Given the description of an element on the screen output the (x, y) to click on. 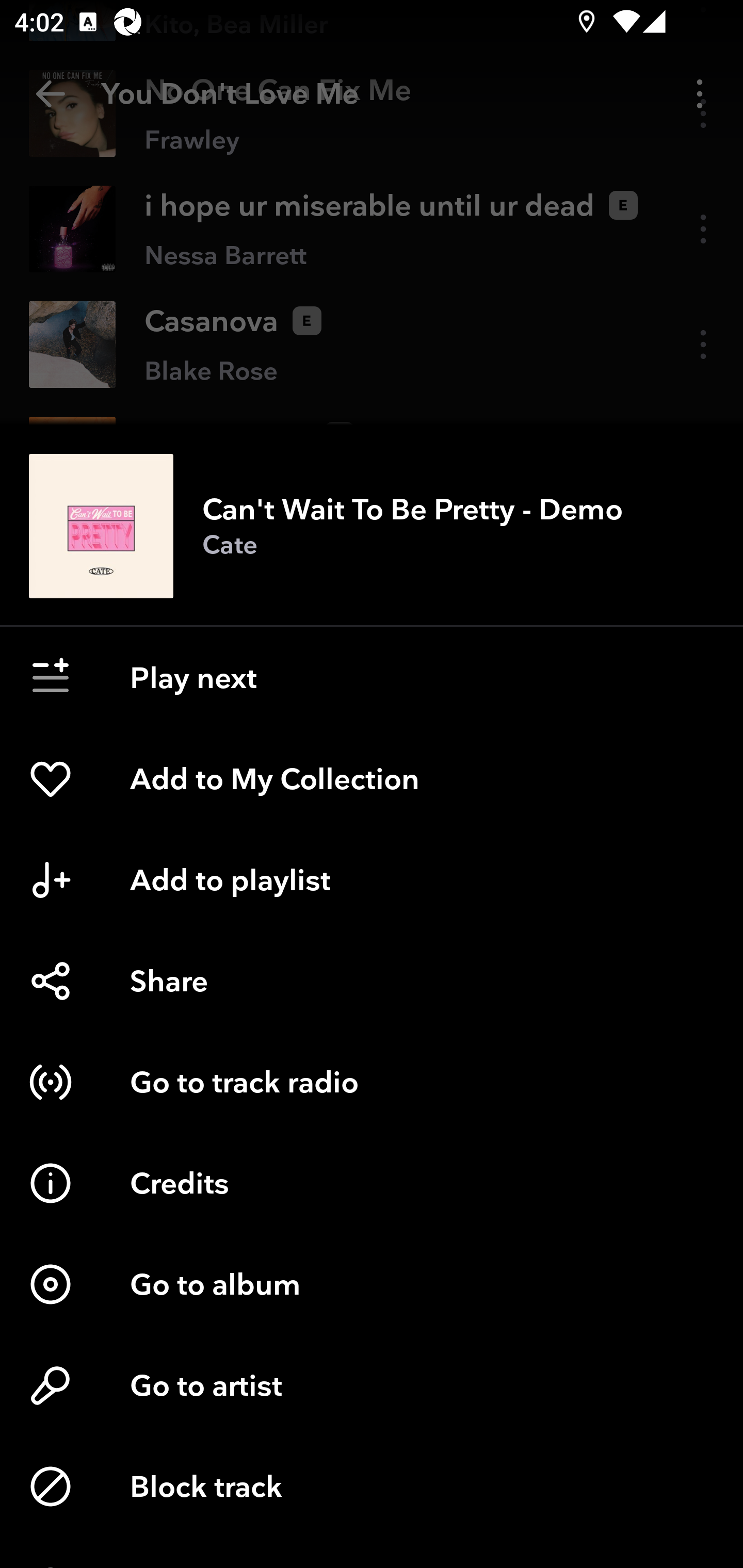
Play next (371, 677)
Add to My Collection (371, 778)
Add to playlist (371, 879)
Share (371, 980)
Go to track radio (371, 1081)
Credits (371, 1183)
Go to album (371, 1284)
Go to artist (371, 1385)
Block track (371, 1486)
